Given the description of an element on the screen output the (x, y) to click on. 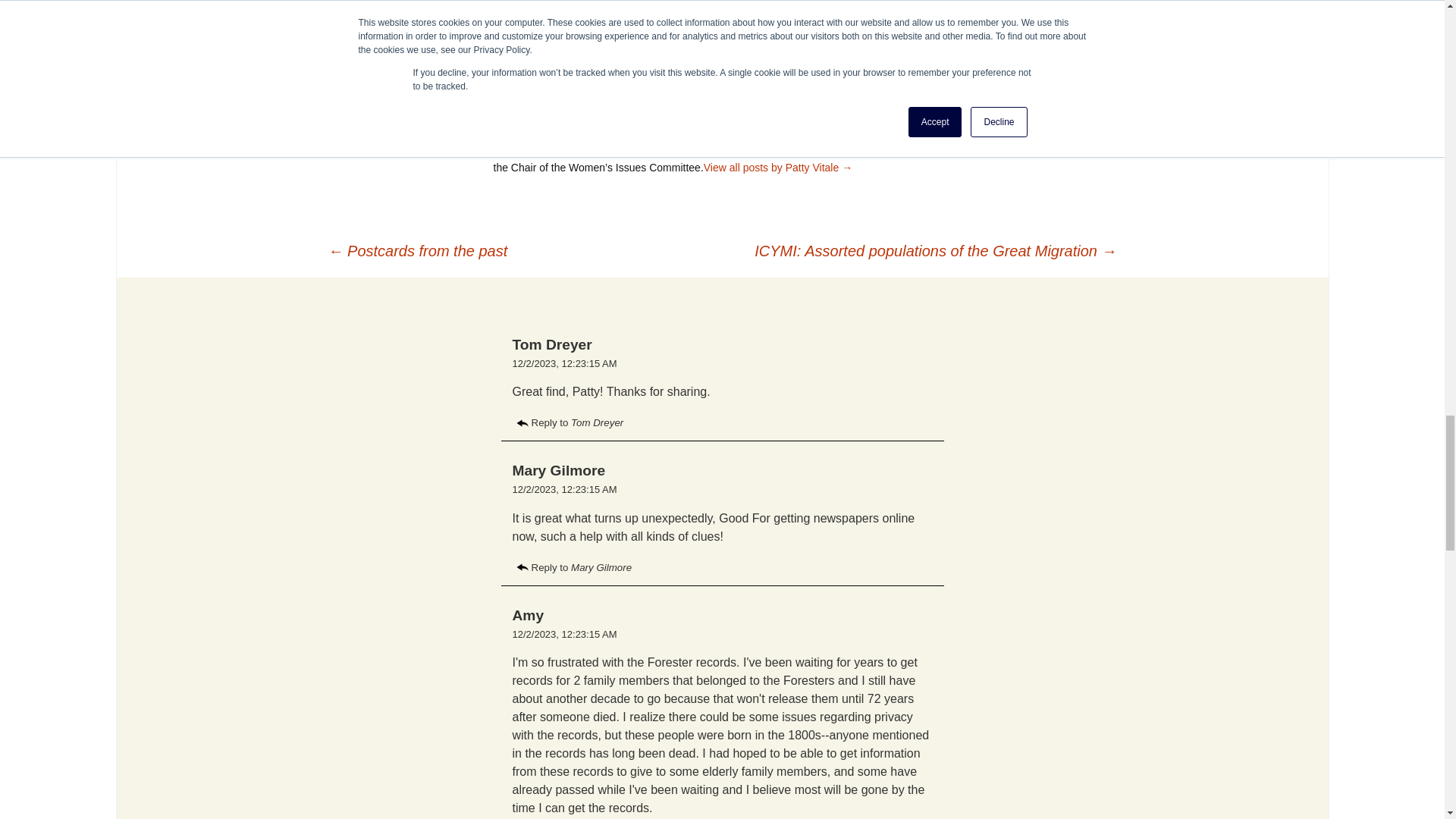
Click to share on Twitter (560, 6)
Click to share on Pinterest (590, 6)
Click to email this to a friend (504, 6)
Click to share on Facebook (533, 6)
